Given the description of an element on the screen output the (x, y) to click on. 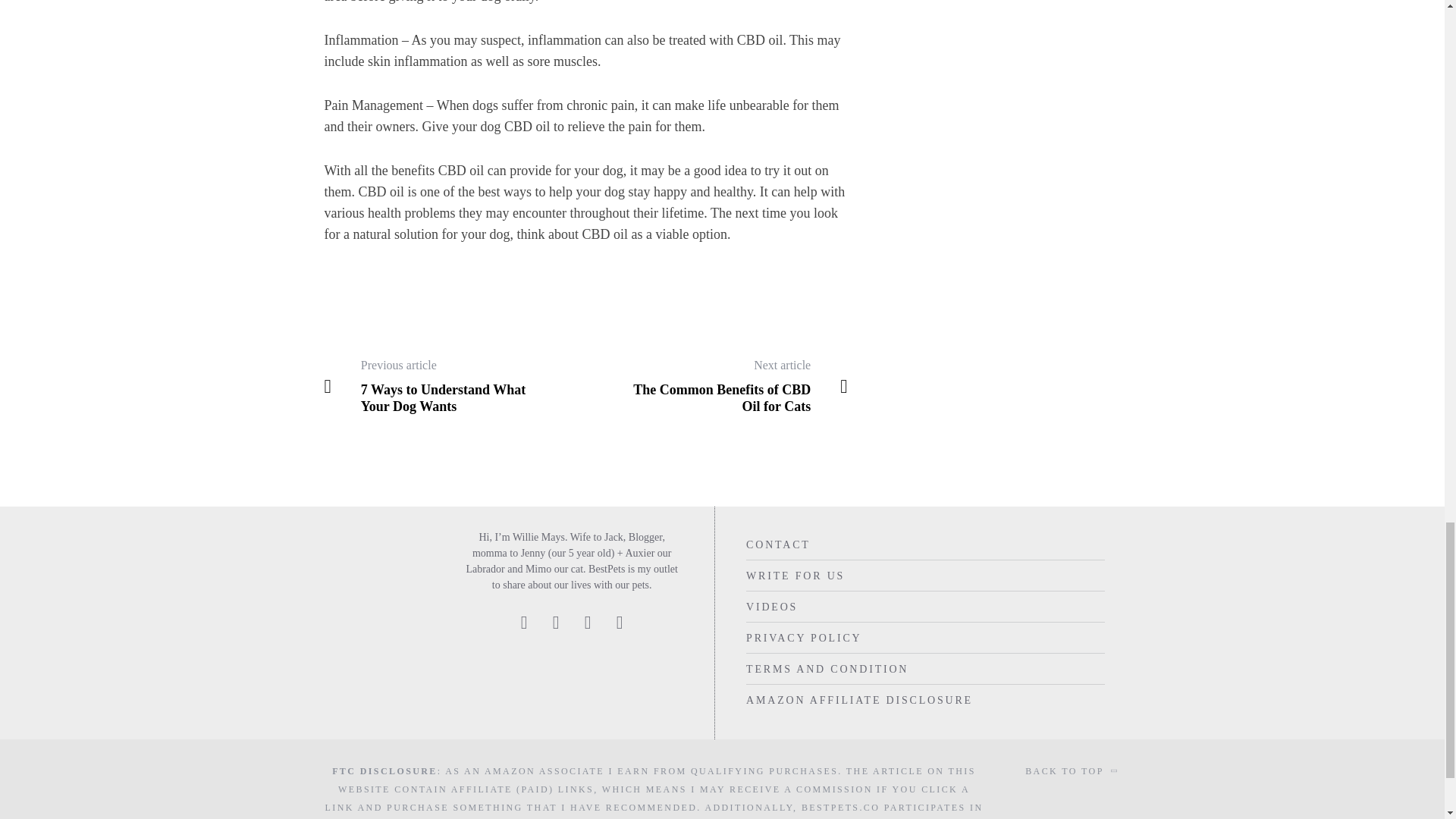
BACK TO TOP (1072, 771)
AMAZON AFFILIATE DISCLOSURE (858, 699)
TERMS AND CONDITION (826, 668)
